Given the description of an element on the screen output the (x, y) to click on. 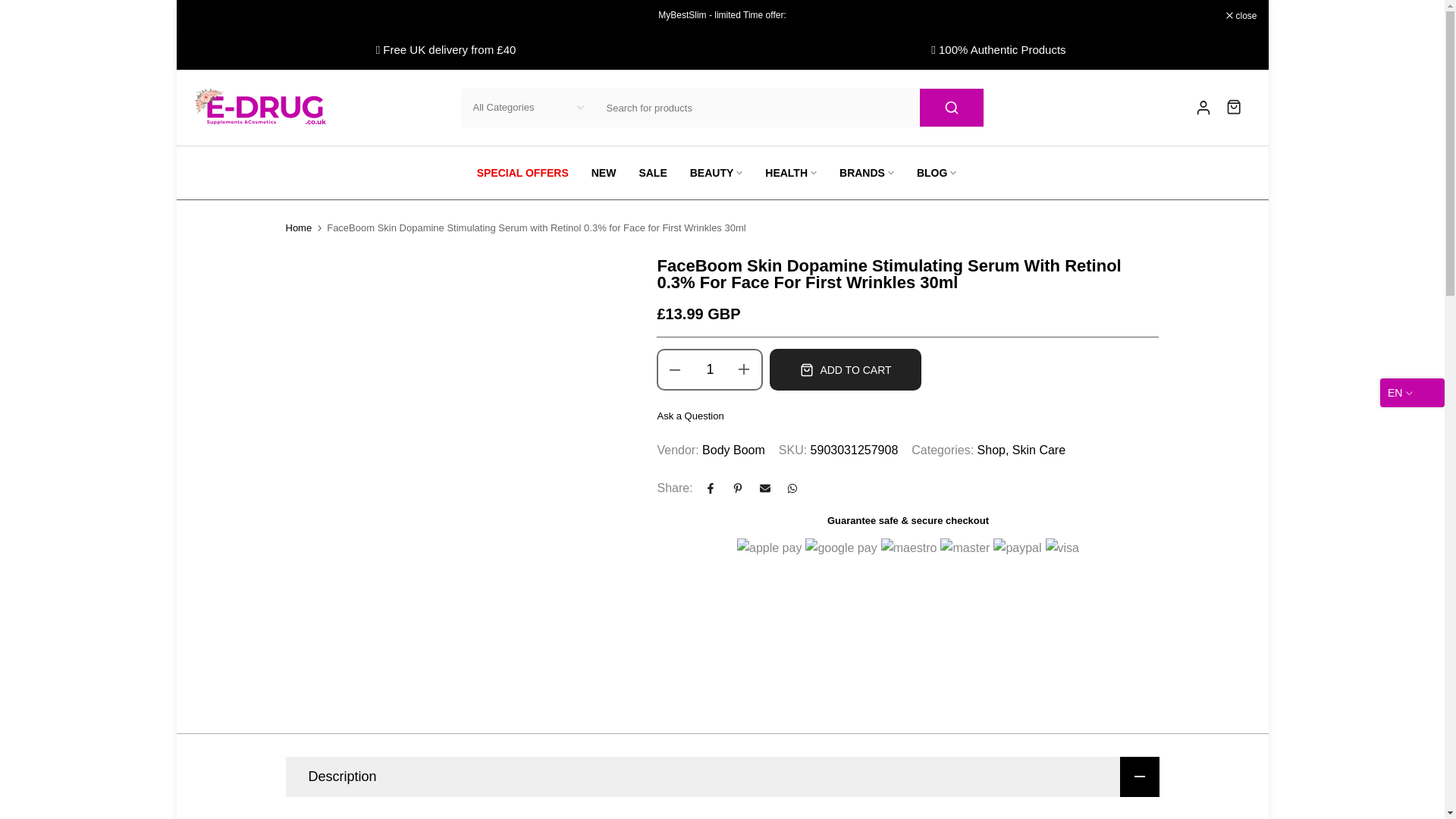
MyBestSlim (682, 14)
Home (298, 228)
Share on Facebook (710, 488)
BRANDS (866, 172)
HEALTH (791, 172)
Skin Care (1038, 450)
BEAUTY (716, 172)
SALE (652, 172)
Body Boom (733, 449)
Shop (992, 450)
